Given the description of an element on the screen output the (x, y) to click on. 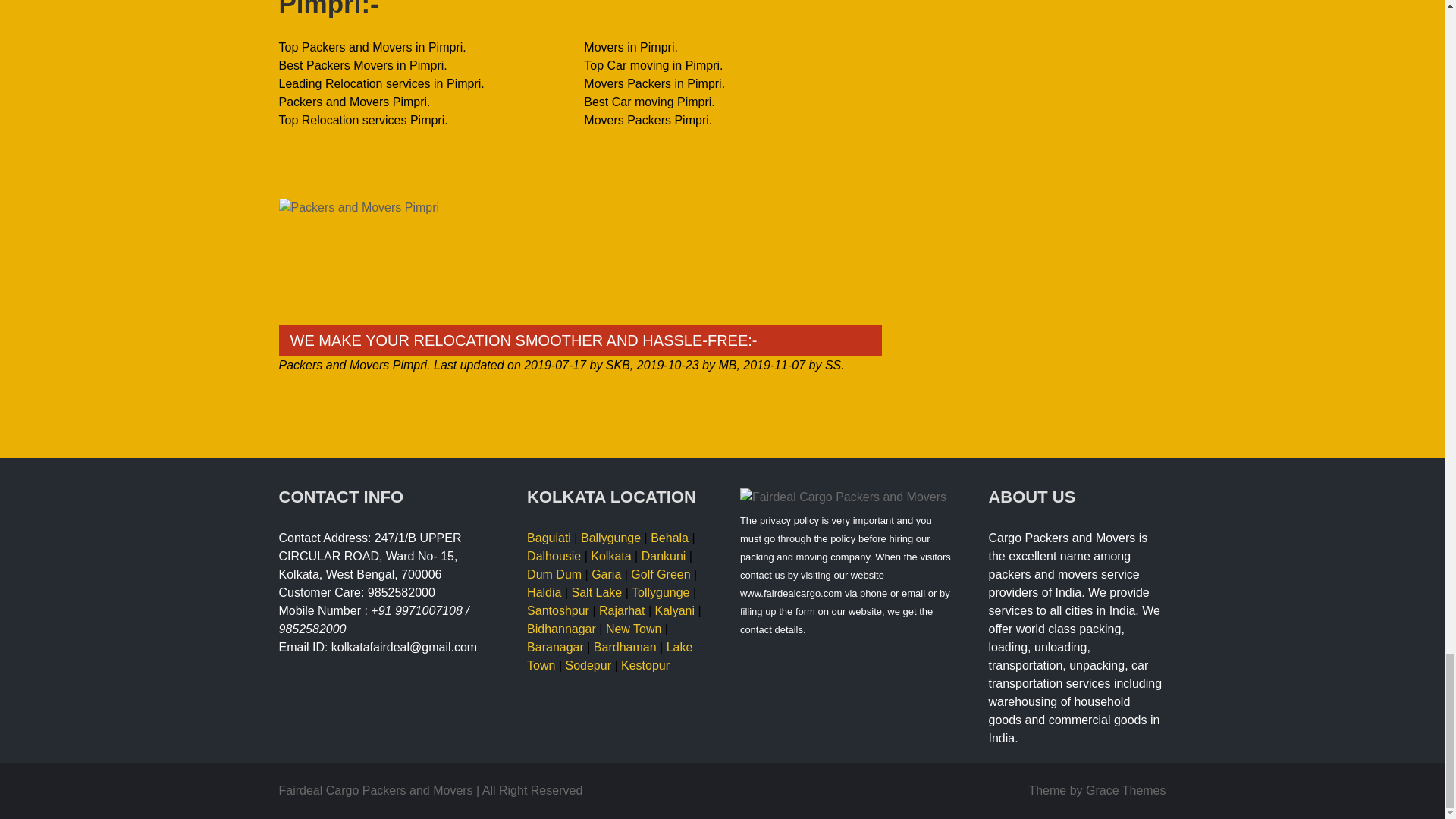
Packers and Movers Pimpri (580, 259)
